Given the description of an element on the screen output the (x, y) to click on. 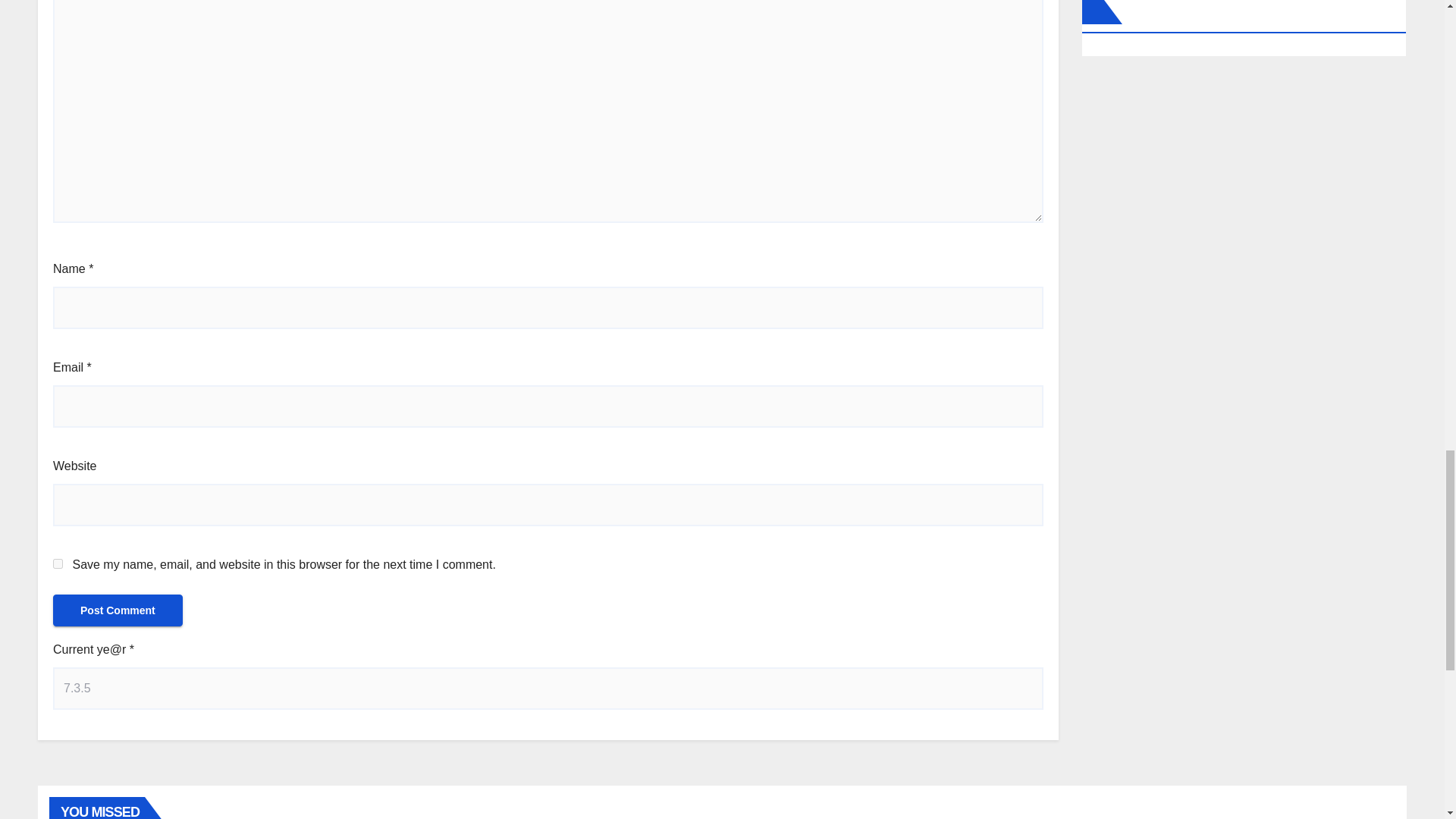
Post Comment (117, 610)
yes (57, 563)
7.3.5 (547, 688)
Post Comment (117, 610)
